Given the description of an element on the screen output the (x, y) to click on. 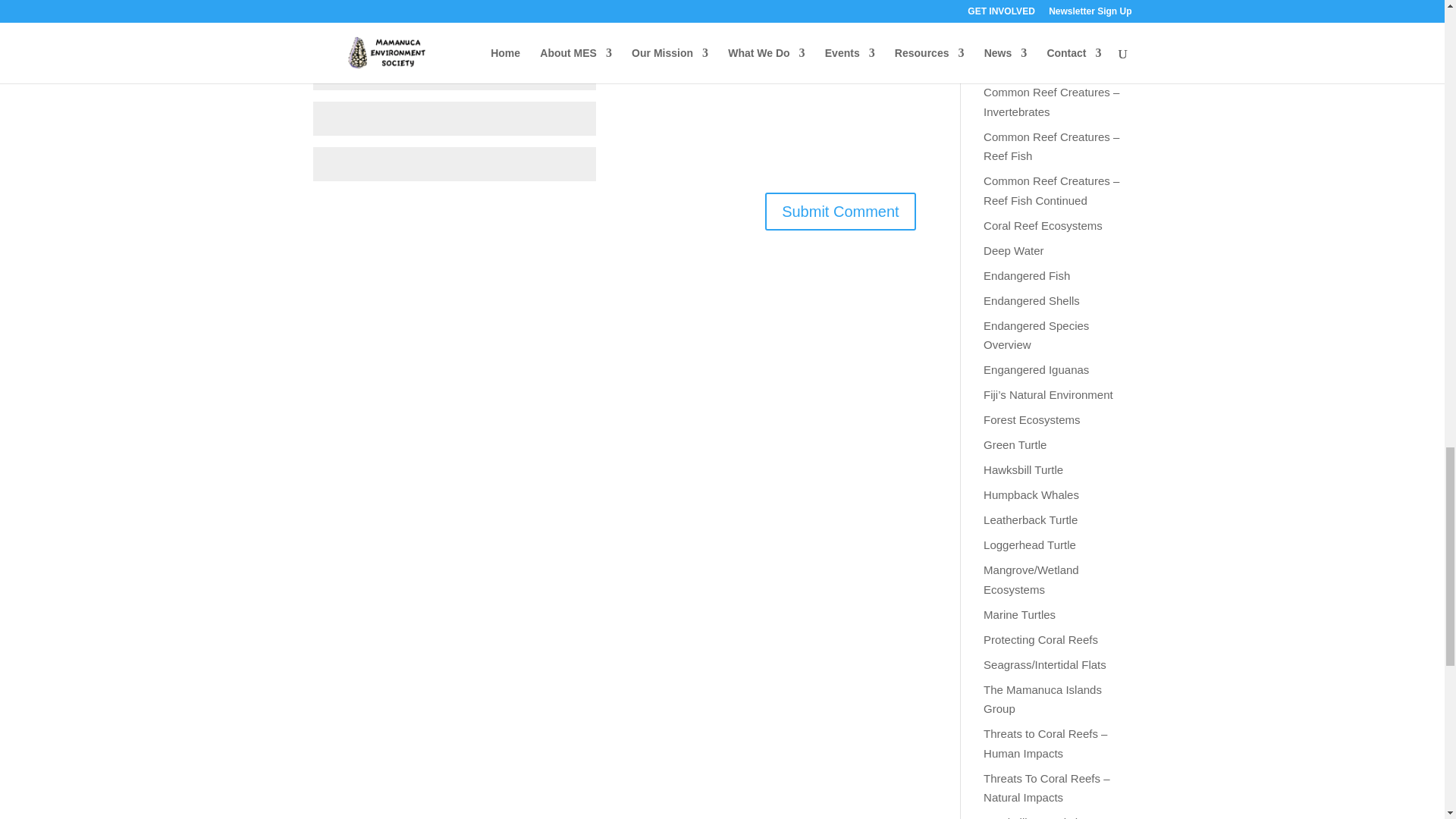
Submit Comment (840, 211)
